Given the description of an element on the screen output the (x, y) to click on. 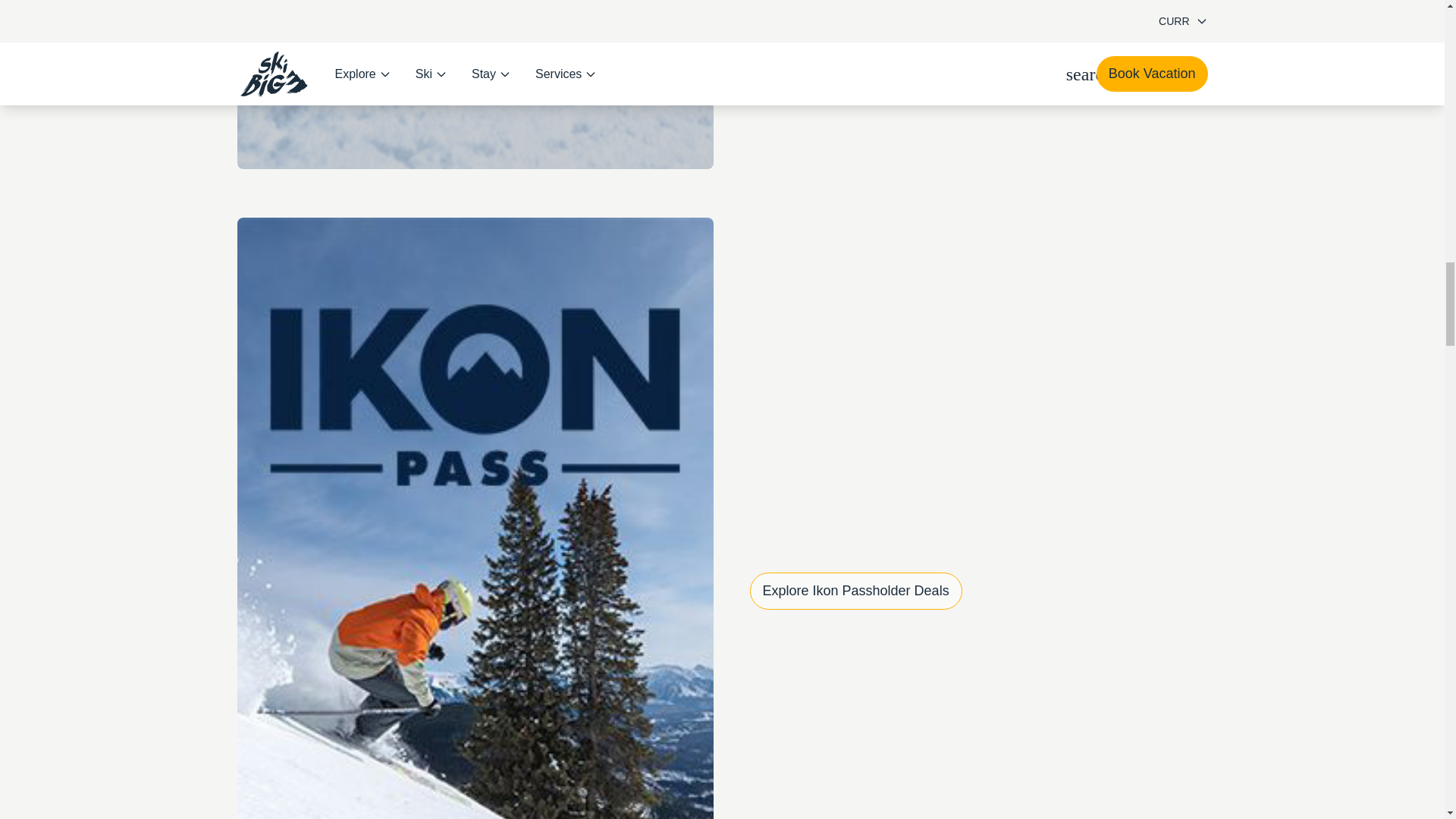
Explore Ikon Passholder Deals (854, 590)
Explore Ikon Passholder Deals (854, 590)
